Given the description of an element on the screen output the (x, y) to click on. 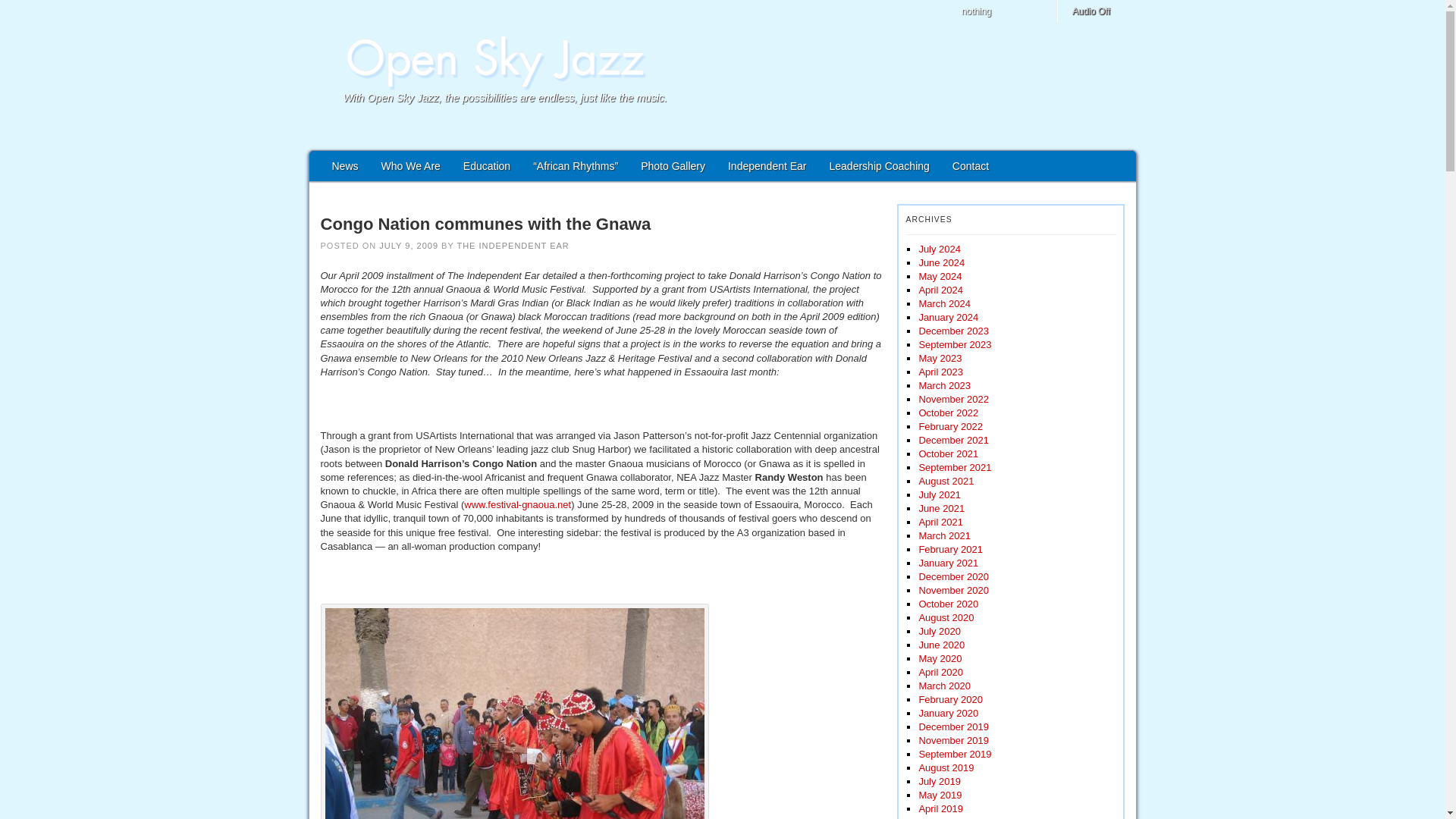
www.festival-gnaoua.net (517, 504)
December 2021 (953, 439)
April 2023 (940, 371)
JULY 9, 2009 (408, 245)
December 2023 (953, 330)
May 2024 (939, 276)
Contact (970, 165)
News (344, 165)
June 2024 (940, 262)
12:35 pm (408, 245)
September 2023 (954, 344)
Education (486, 165)
February 2022 (950, 426)
October 2021 (948, 453)
View all posts by The Independent Ear (513, 245)
